Given the description of an element on the screen output the (x, y) to click on. 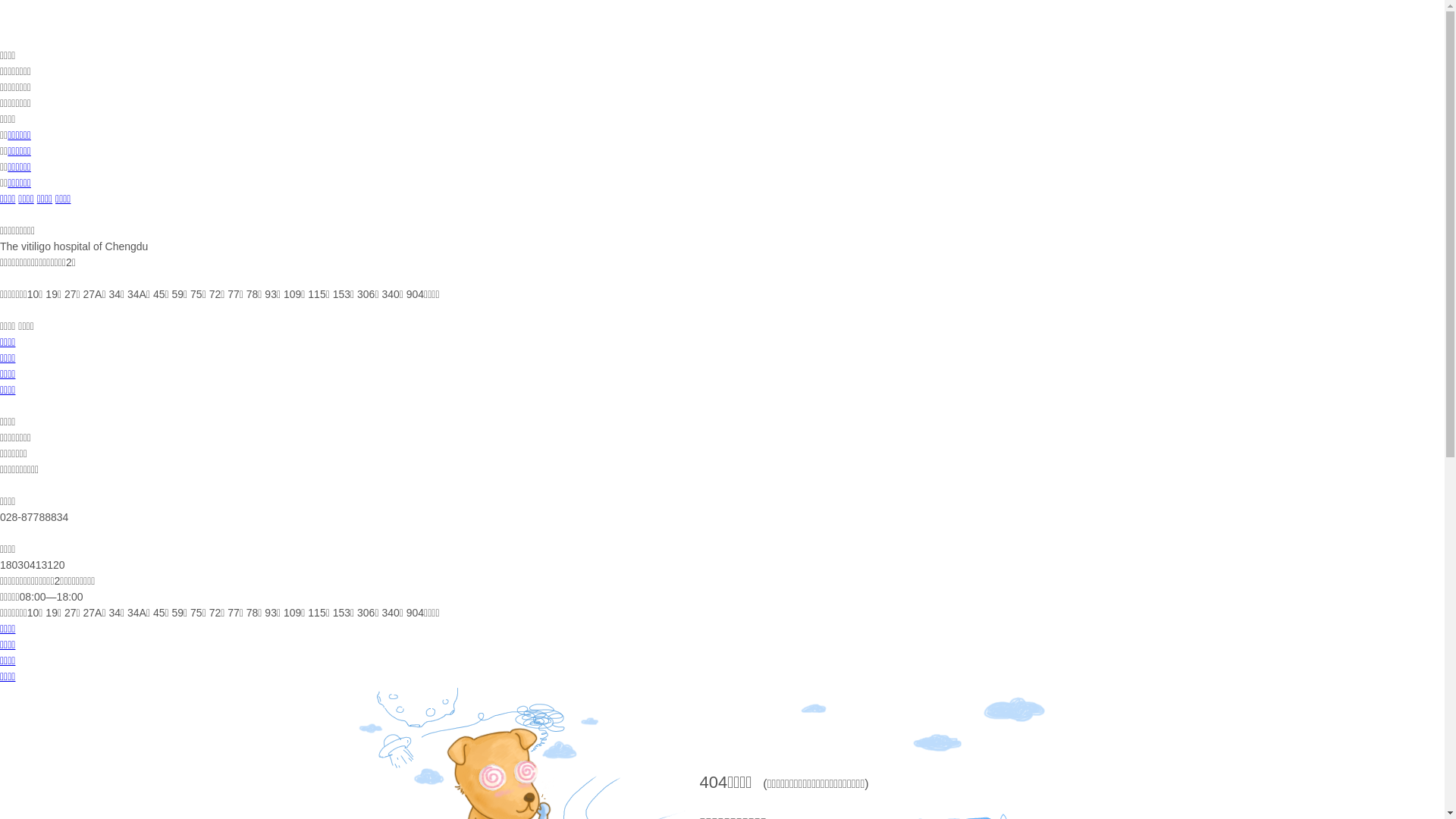
404 Element type: text (713, 781)
